Given the description of an element on the screen output the (x, y) to click on. 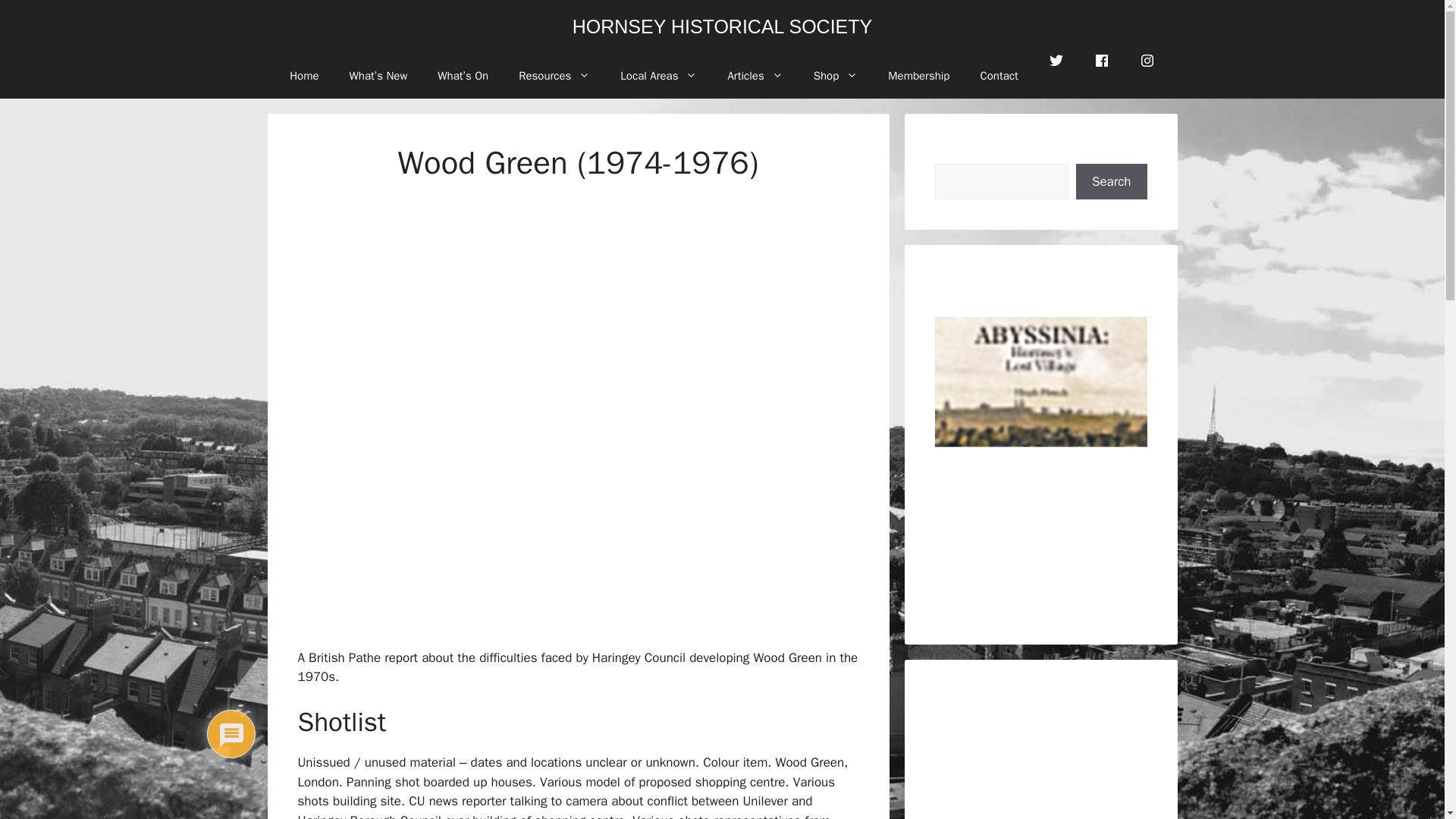
Local Areas (658, 75)
Resources (554, 75)
Articles (754, 75)
Home (304, 75)
HORNSEY HISTORICAL SOCIETY (722, 25)
